Given the description of an element on the screen output the (x, y) to click on. 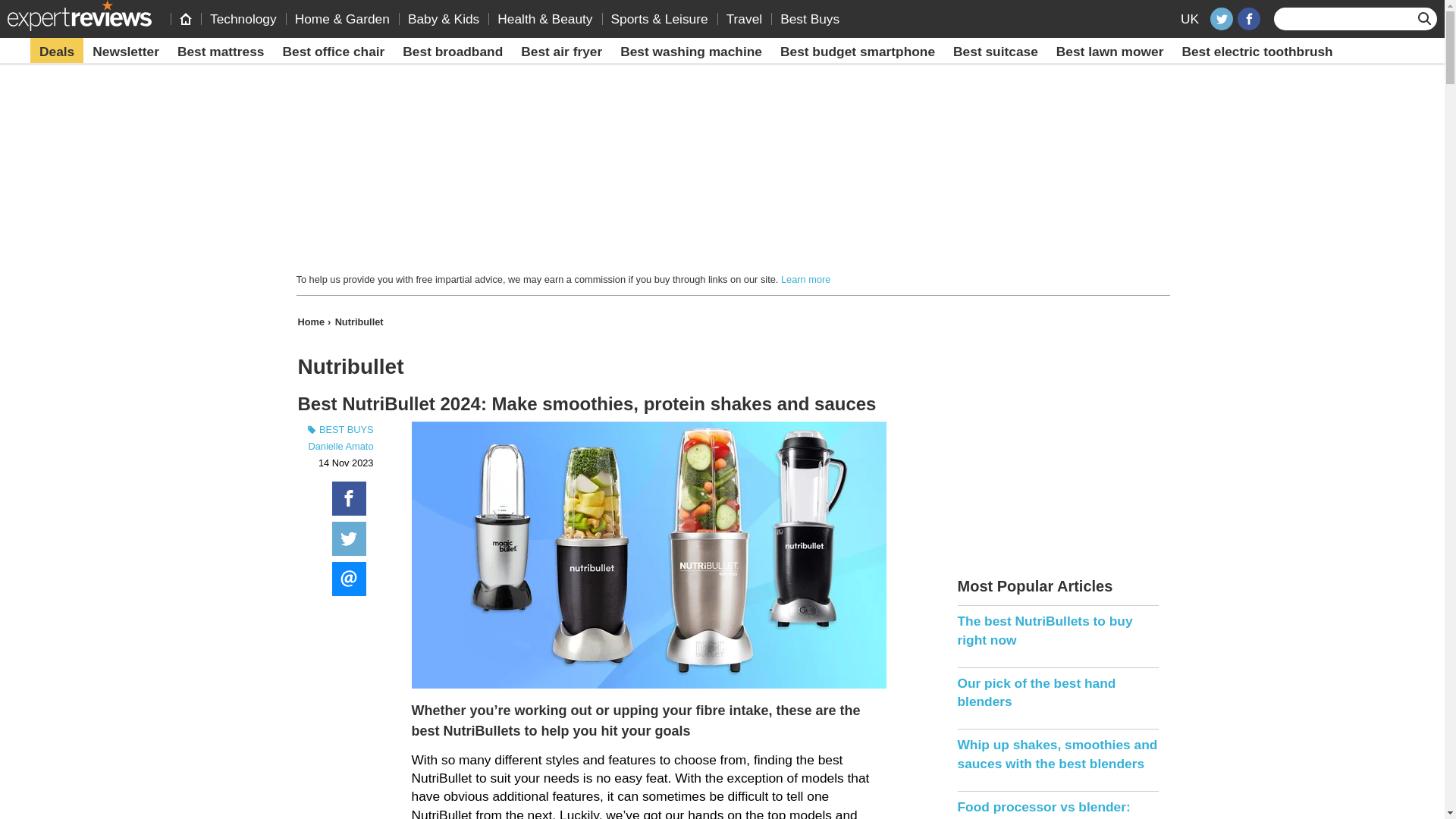
Danielle Amato (339, 446)
Best suitcase (994, 51)
Best electric toothbrush (1256, 51)
Learn more (804, 279)
Best mattress (220, 51)
Best washing machine (691, 51)
Best lawn mower (1109, 51)
Travel (744, 18)
Newsletter (125, 51)
Deals (56, 51)
